Given the description of an element on the screen output the (x, y) to click on. 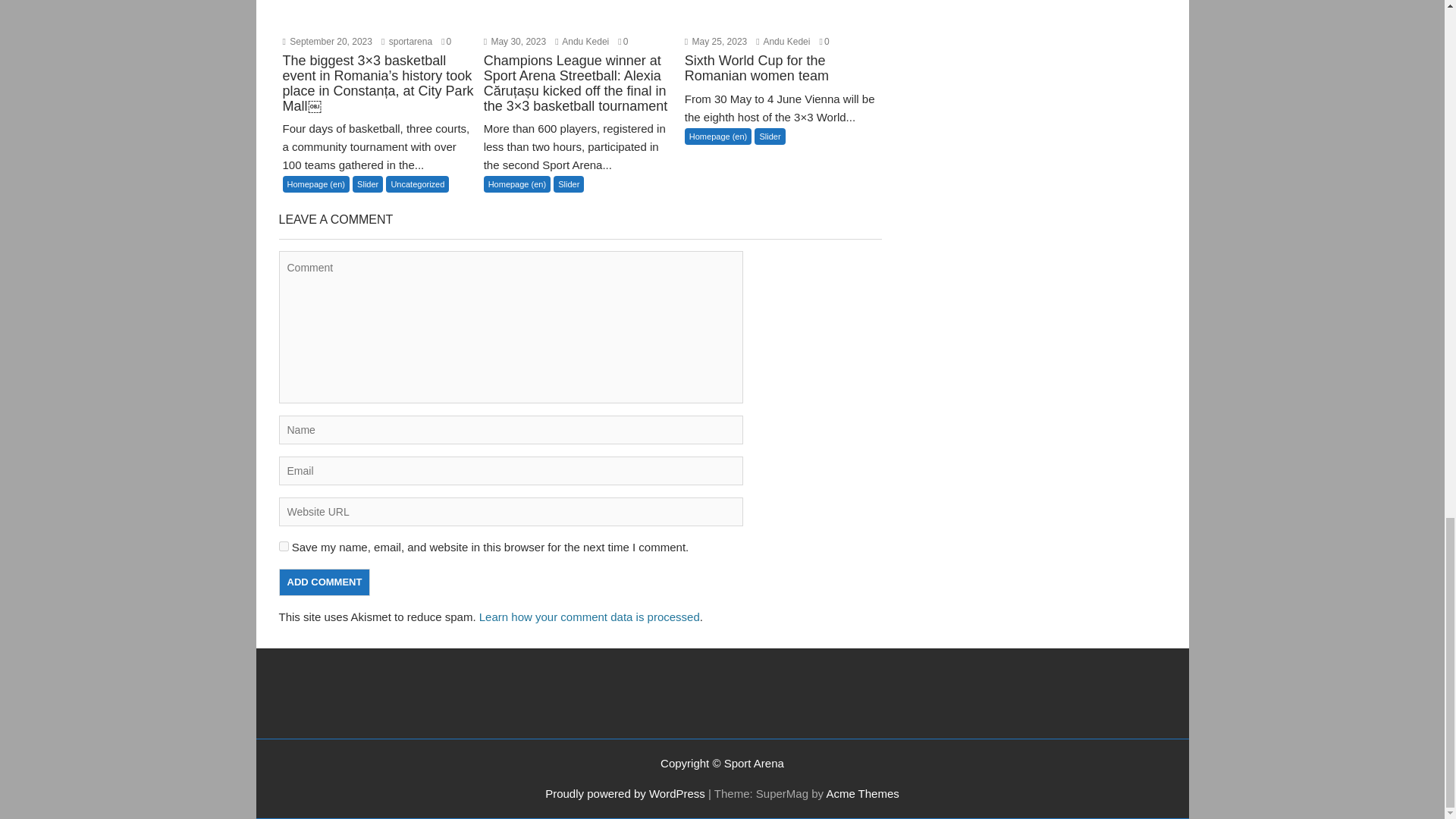
0 (446, 41)
September 20, 2023 (326, 41)
Add Comment (325, 582)
yes (283, 546)
Uncategorized (416, 184)
sportarena (406, 41)
Slider (367, 184)
May 30, 2023 (514, 41)
Andu Kedei (782, 41)
sportarena (406, 41)
